Given the description of an element on the screen output the (x, y) to click on. 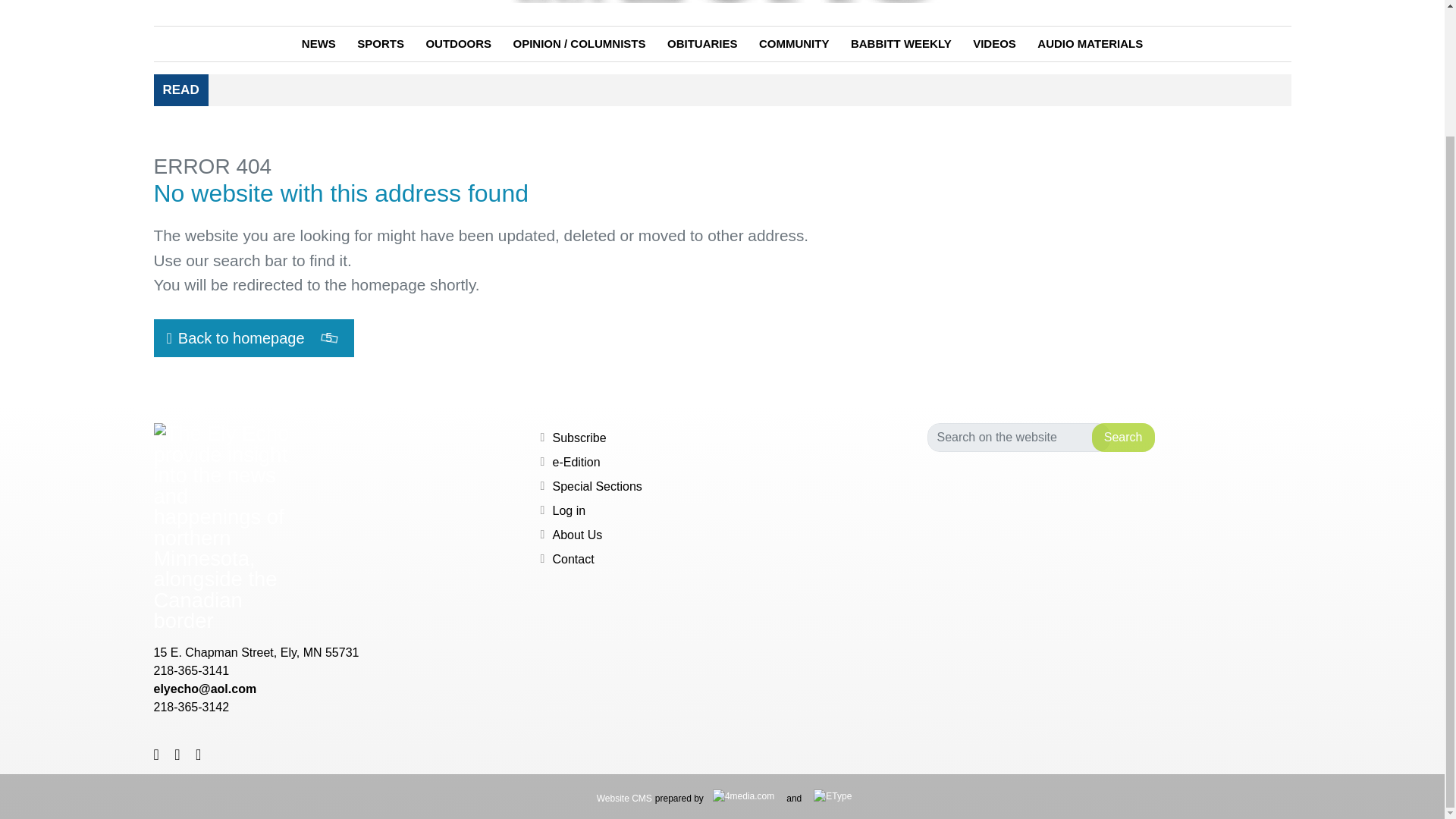
OBITUARIES (702, 44)
Log in (568, 510)
BABBITT WEEKLY (900, 44)
VIDEOS (994, 44)
OUTDOORS (458, 44)
Search (1123, 437)
www.etypeservices.com (252, 338)
www.4media.com (832, 795)
